Given the description of an element on the screen output the (x, y) to click on. 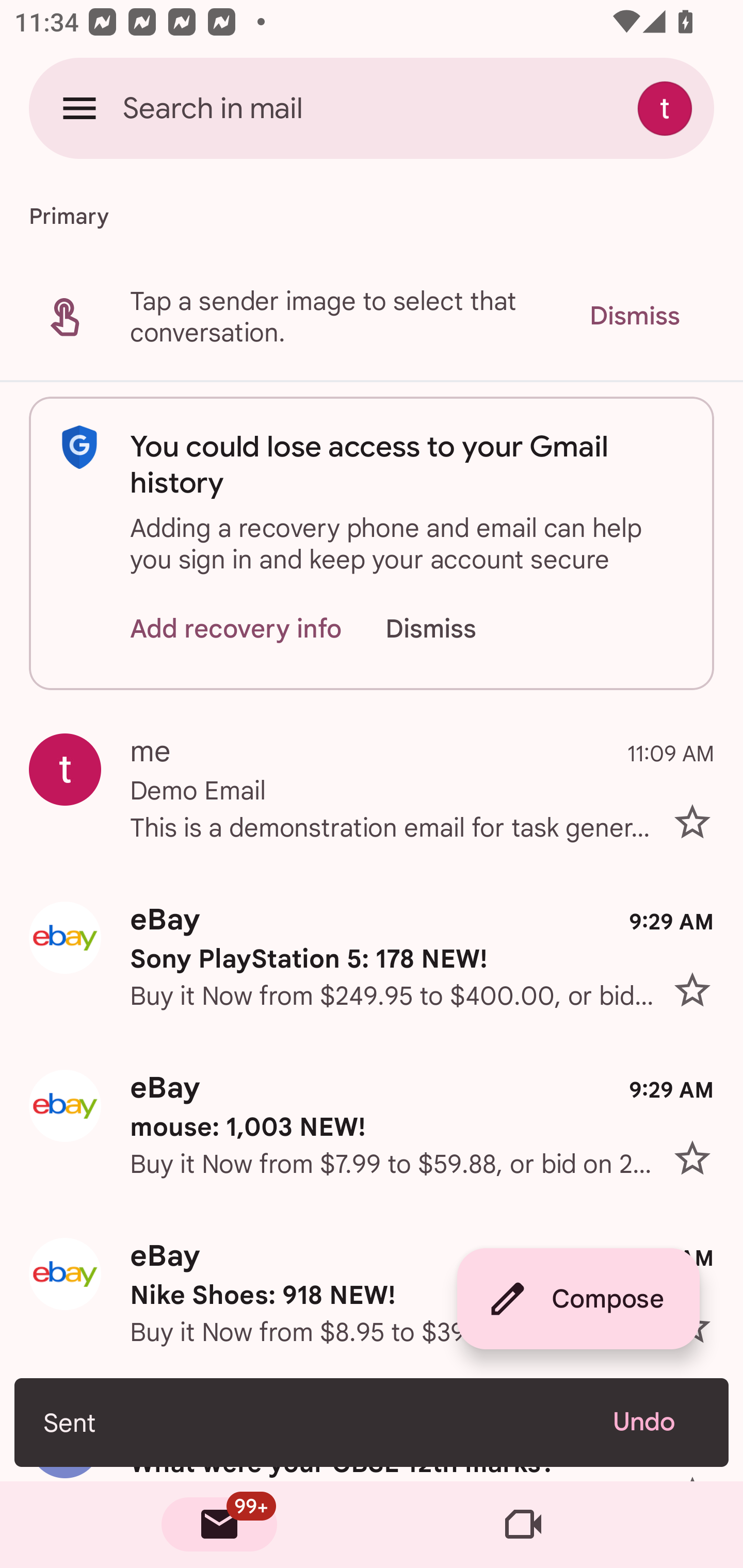
Open navigation drawer (79, 108)
Dismiss Dismiss tip (634, 315)
Add recovery info (235, 628)
Dismiss (449, 628)
Compose (577, 1299)
Undo (655, 1422)
Meet (523, 1524)
